Given the description of an element on the screen output the (x, y) to click on. 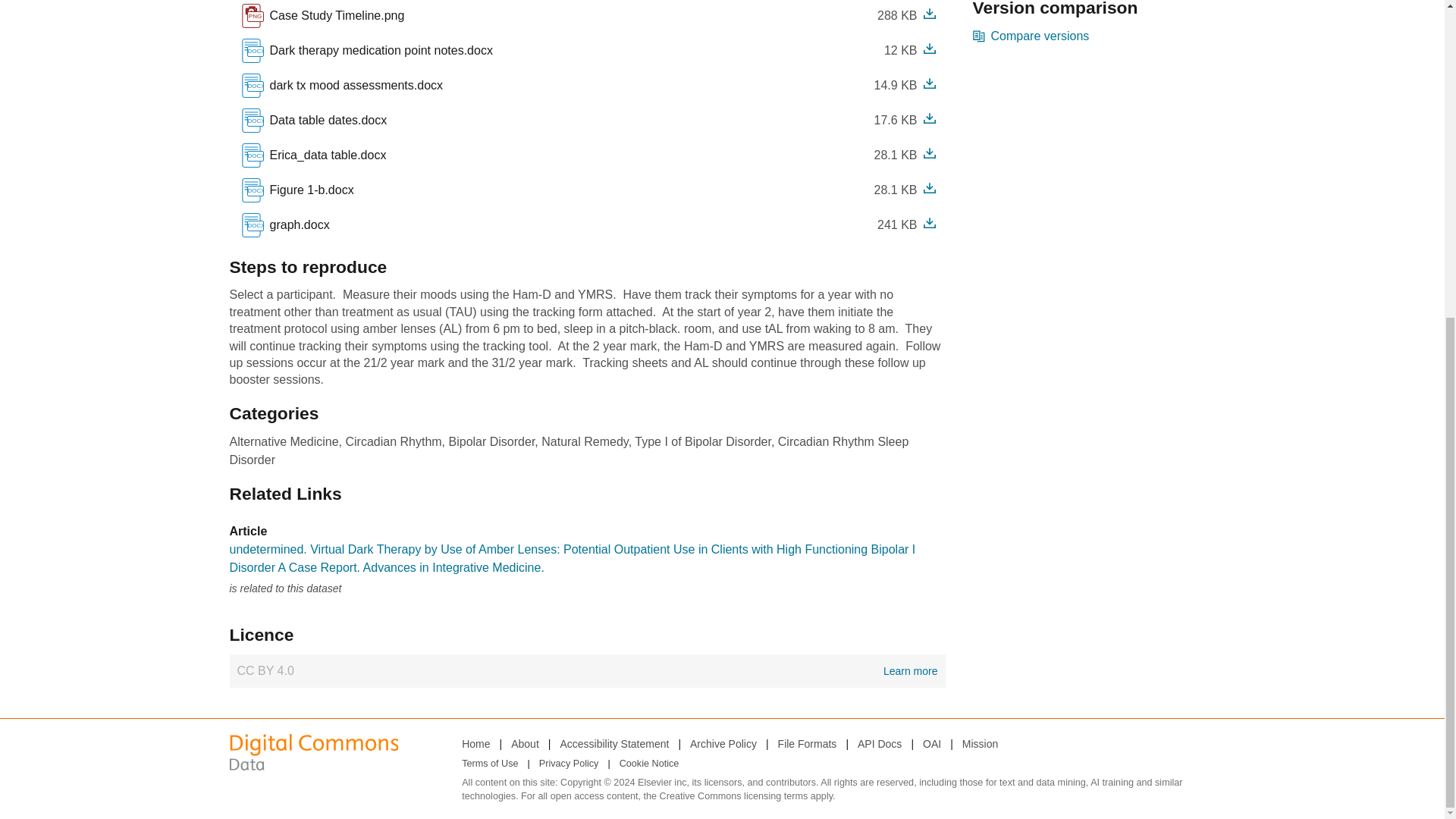
Data table dates.docx (325, 120)
Home (342, 85)
Archive Policy (475, 743)
Figure 1-b.docx (723, 743)
Compare versions (308, 190)
